Given the description of an element on the screen output the (x, y) to click on. 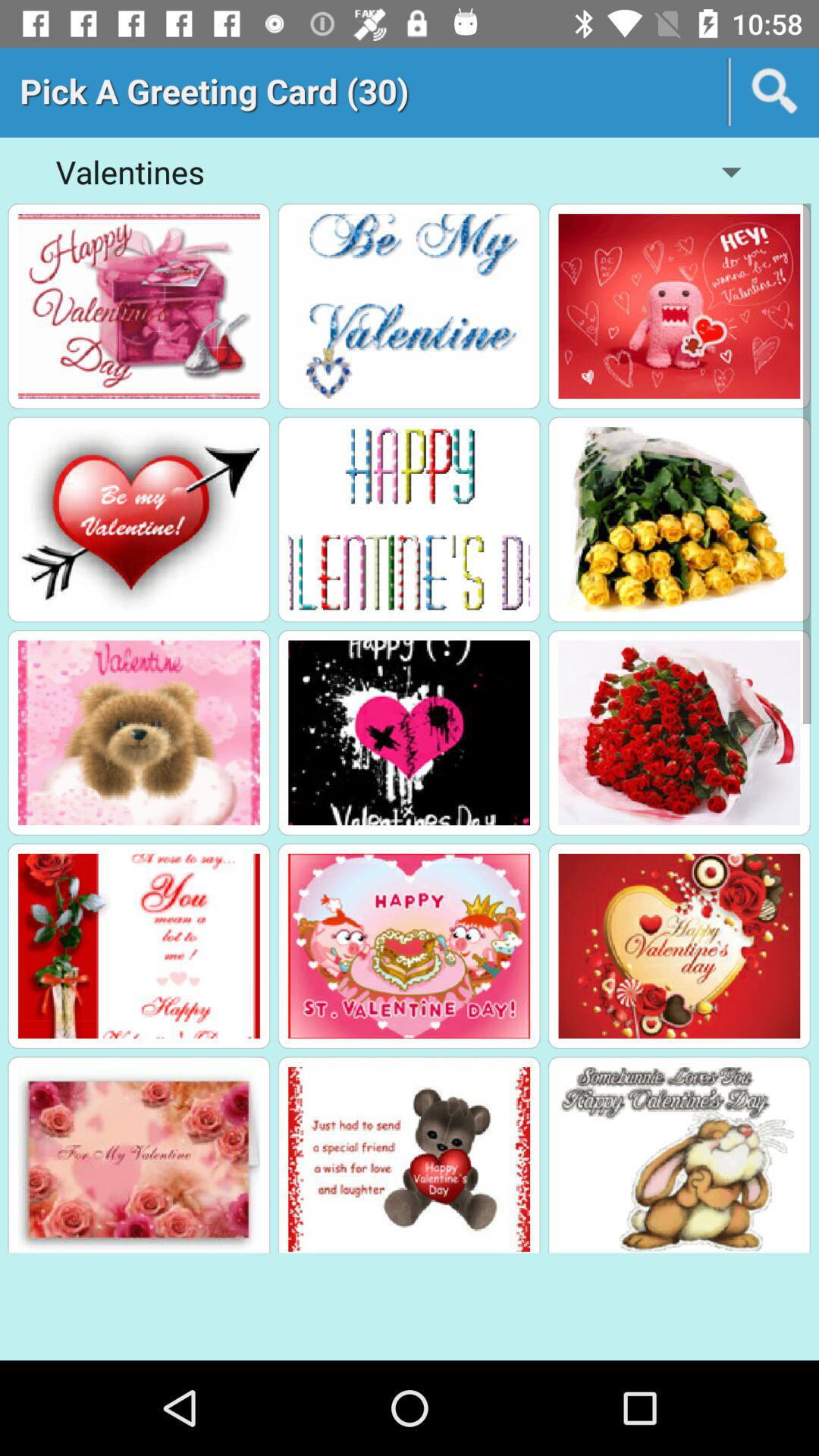
for some image (679, 519)
